Given the description of an element on the screen output the (x, y) to click on. 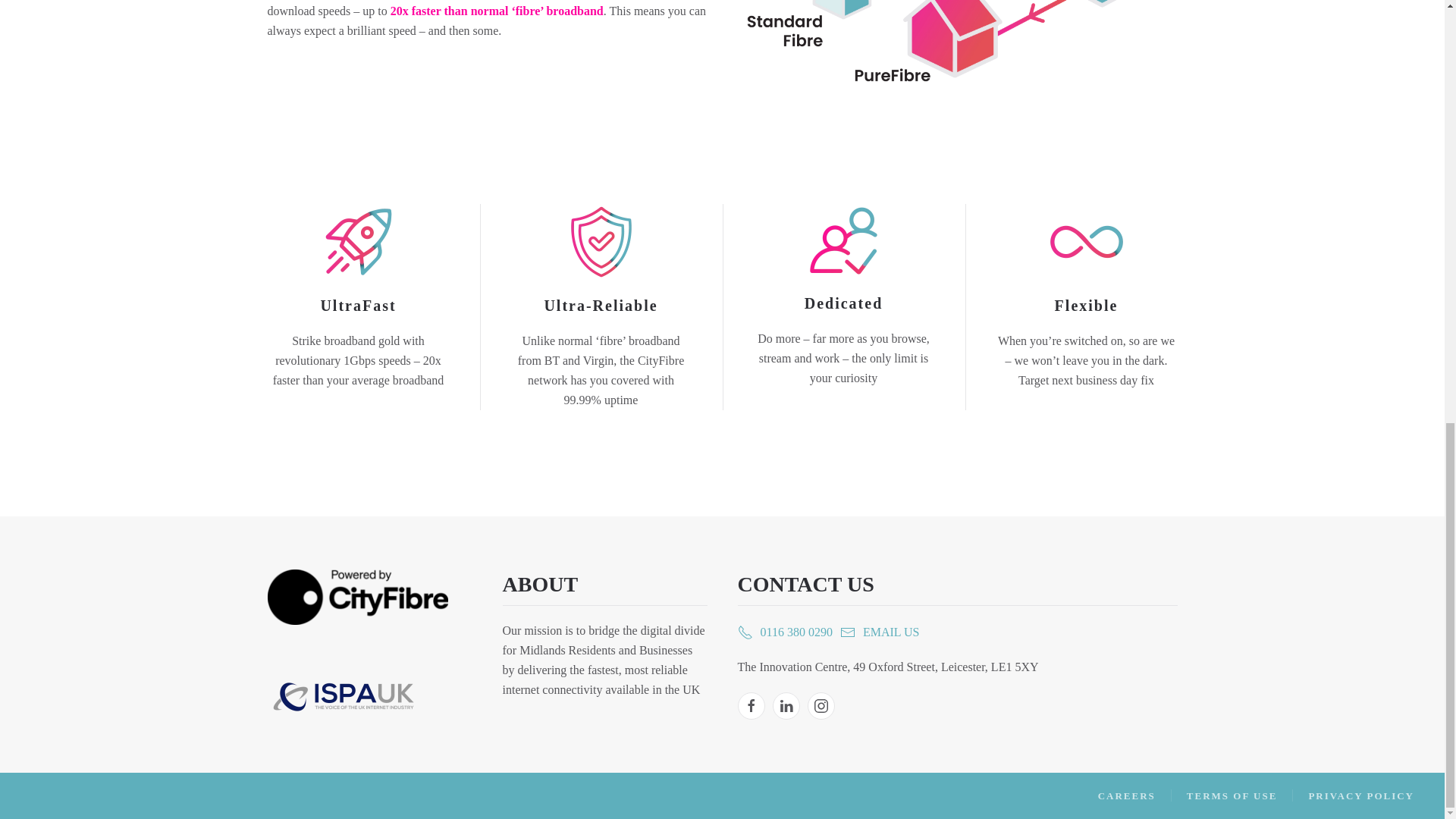
0116 380 0290 (783, 632)
PRIVACY POLICY (1360, 795)
CAREERS (1126, 795)
TERMS OF USE (1232, 795)
EMAIL US (880, 632)
